Given the description of an element on the screen output the (x, y) to click on. 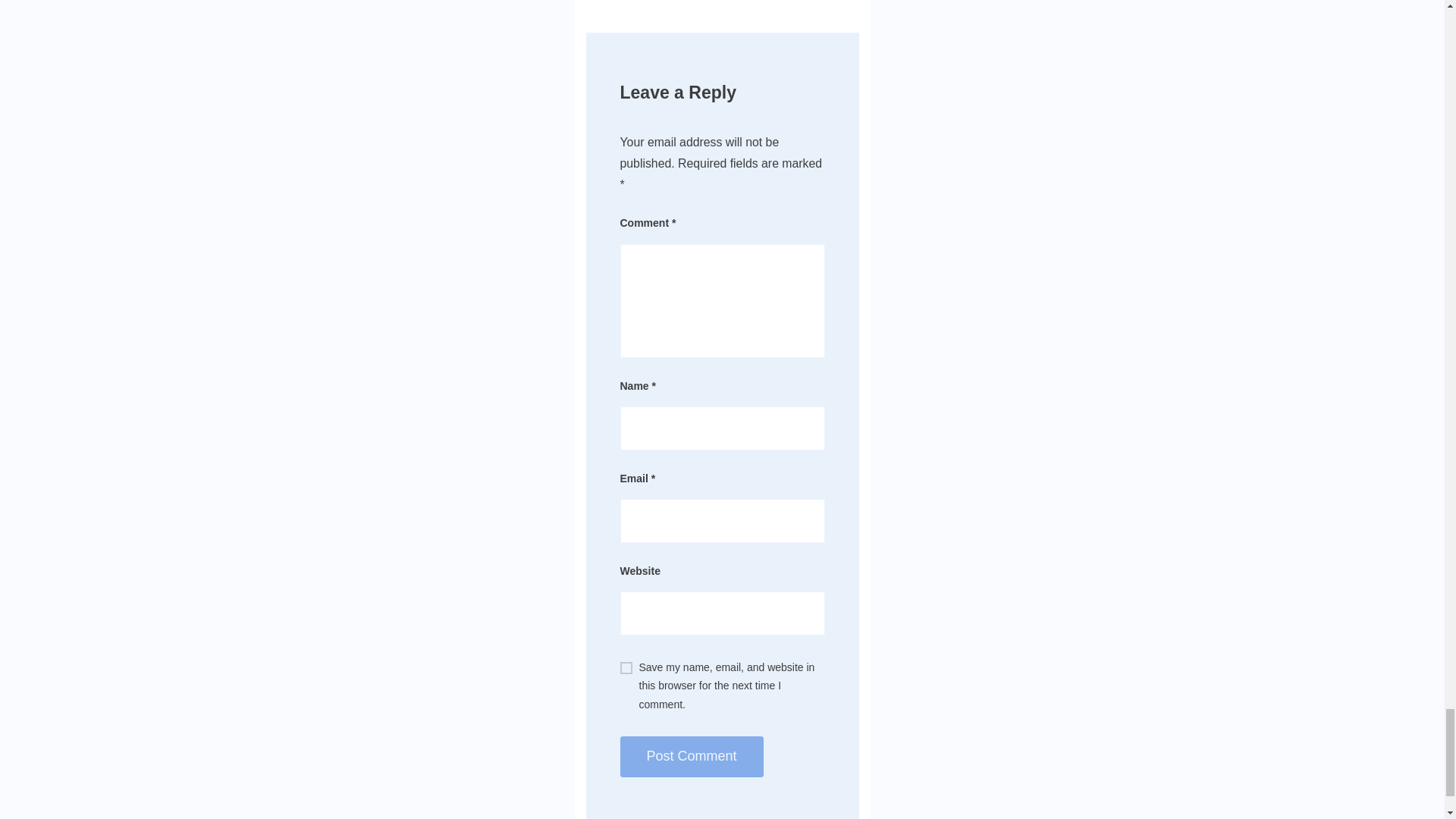
Post Comment (691, 756)
